Given the description of an element on the screen output the (x, y) to click on. 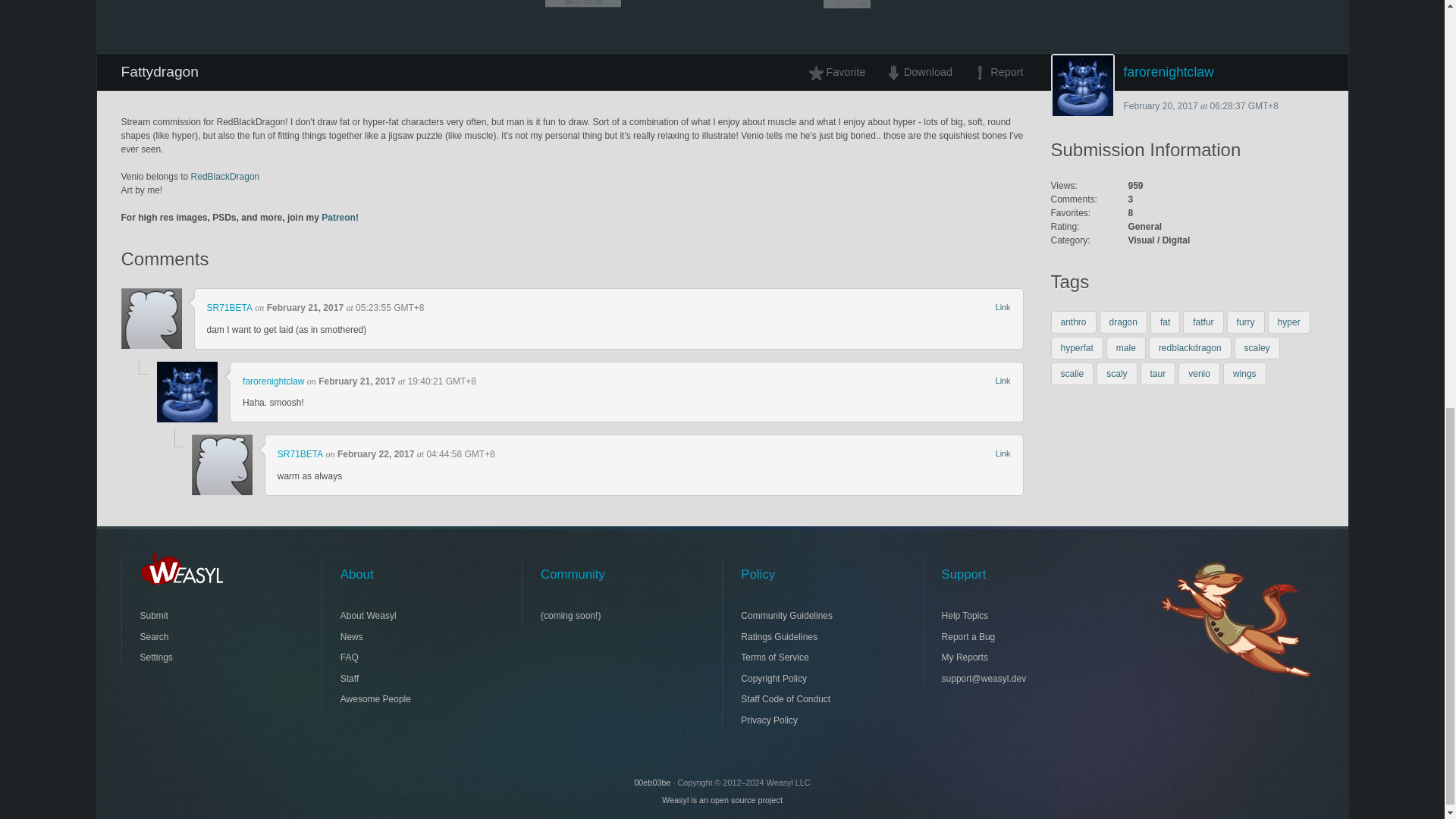
RedBlackDragon (225, 176)
scalie (1072, 373)
Favorite (841, 72)
Download (918, 72)
hyperfat (1077, 347)
furry (1246, 322)
fatfur (1202, 322)
fat (1164, 322)
redblackdragon (1189, 347)
male (1125, 347)
